Given the description of an element on the screen output the (x, y) to click on. 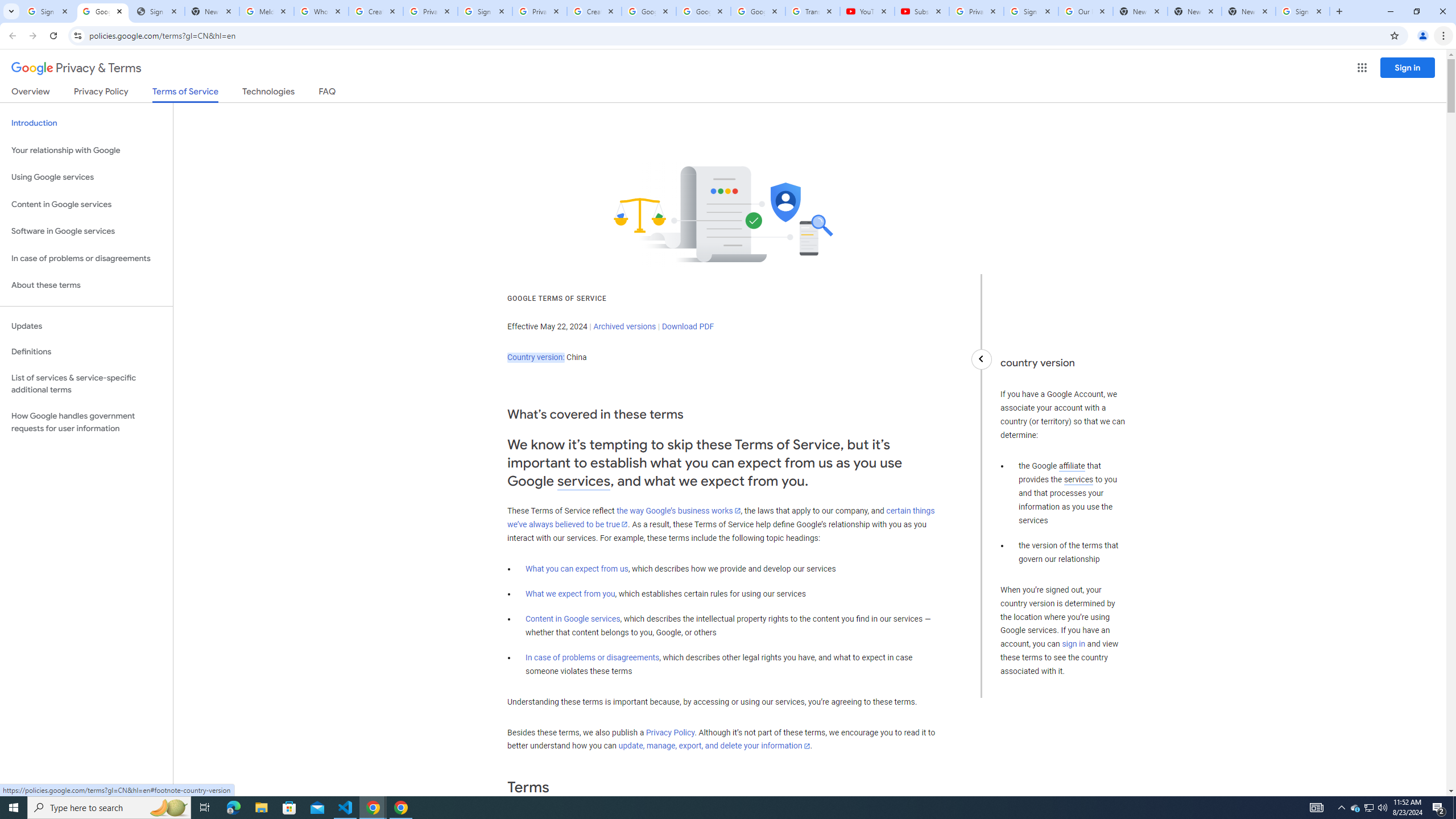
Google Account (757, 11)
Sign in - Google Accounts (1030, 11)
Sign in - Google Accounts (1303, 11)
Privacy Policy (669, 732)
Create your Google Account (594, 11)
FAQ (327, 93)
Content in Google services (572, 618)
